Given the description of an element on the screen output the (x, y) to click on. 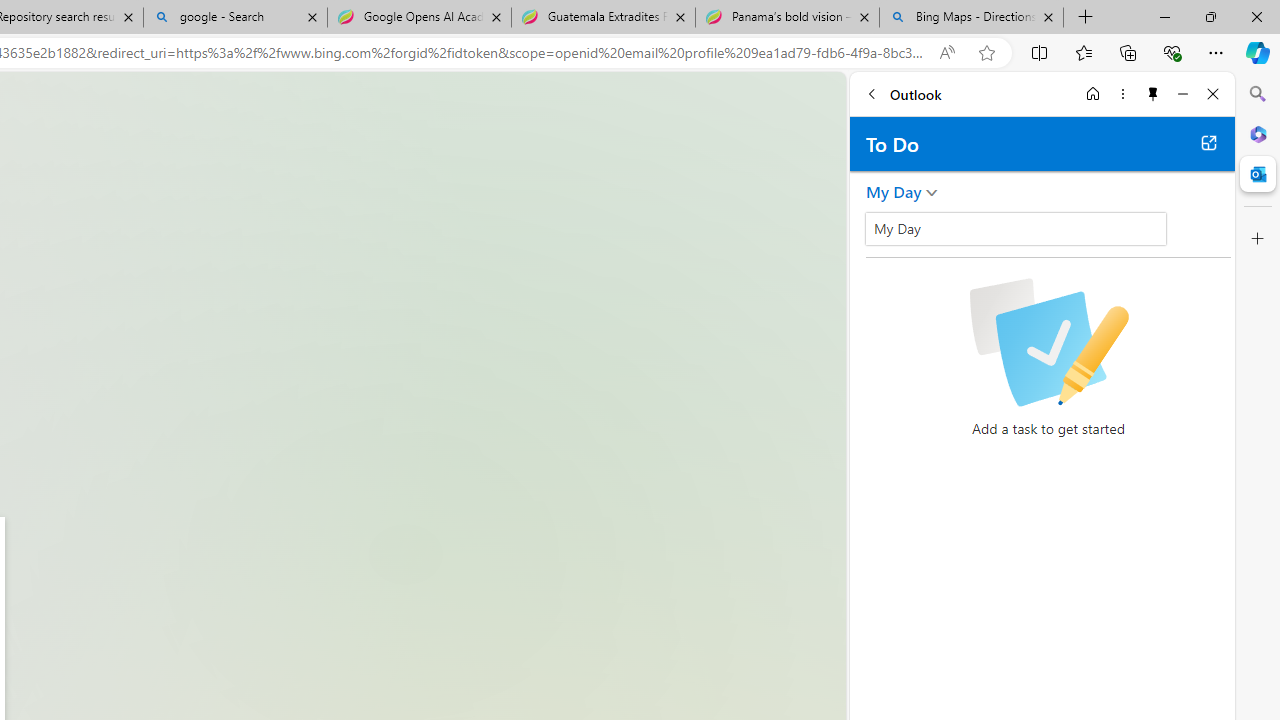
Add a task (881, 235)
My Day (1016, 228)
